Given the description of an element on the screen output the (x, y) to click on. 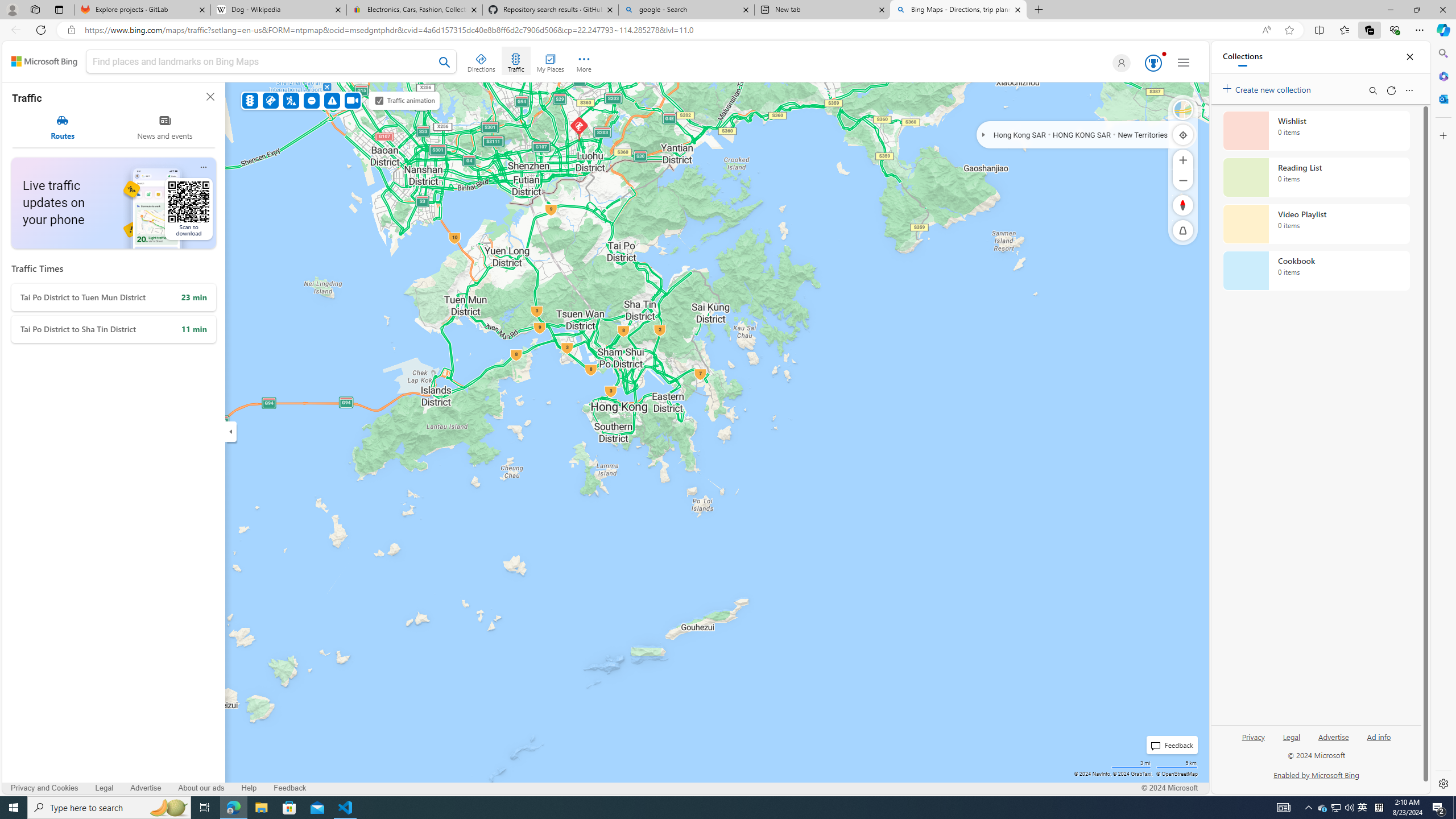
Microsoft Rewards 63 (1152, 63)
Class: sbElement (43, 60)
Expand/Collapse Geochain (982, 134)
Rotate Right (1171, 205)
Class: inputbox (270, 62)
Traffic (249, 100)
Wishlist collection, 0 items (1316, 130)
